Given the description of an element on the screen output the (x, y) to click on. 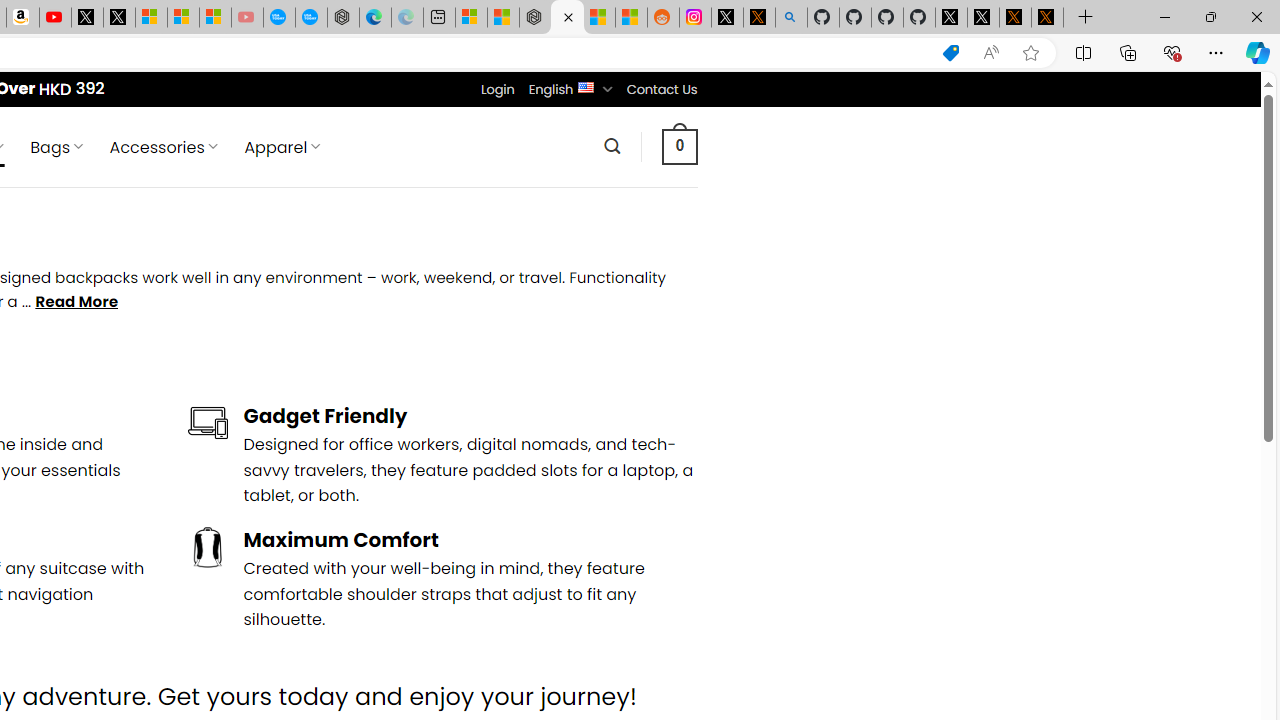
Day 1: Arriving in Yemen (surreal to be here) - YouTube (54, 17)
Log in to X / X (727, 17)
The most popular Google 'how to' searches (310, 17)
GitHub (@github) / X (983, 17)
